Given the description of an element on the screen output the (x, y) to click on. 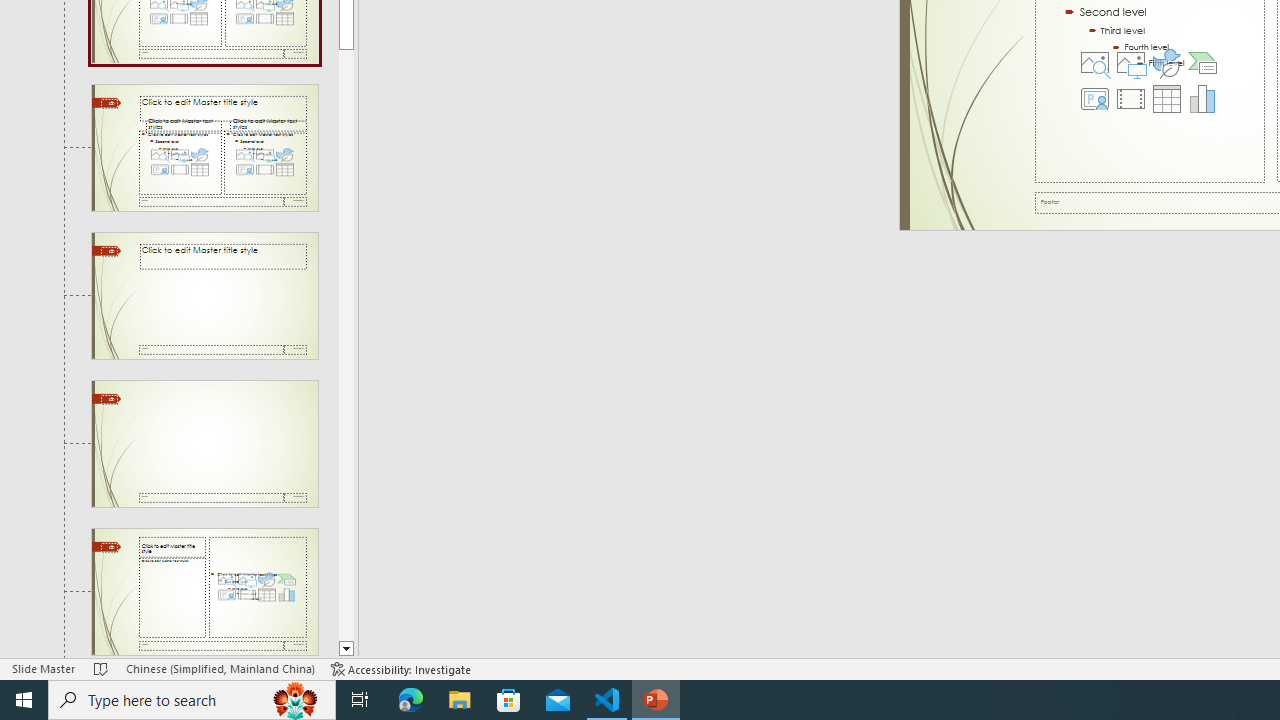
Slide Comparison Layout: used by no slides (204, 296)
Insert Table (1166, 98)
Insert an Icon (1166, 62)
Slide Title Only Layout: used by no slides (204, 443)
Slide Two Content Layout: used by no slides (204, 147)
Stock Images (1095, 62)
Page down (345, 344)
Insert Chart (1202, 98)
Line down (345, 649)
Insert Video (1130, 98)
Insert Cameo (1095, 98)
Slide Blank Layout: used by no slides (204, 592)
Insert a SmartArt Graphic (1202, 62)
